Given the description of an element on the screen output the (x, y) to click on. 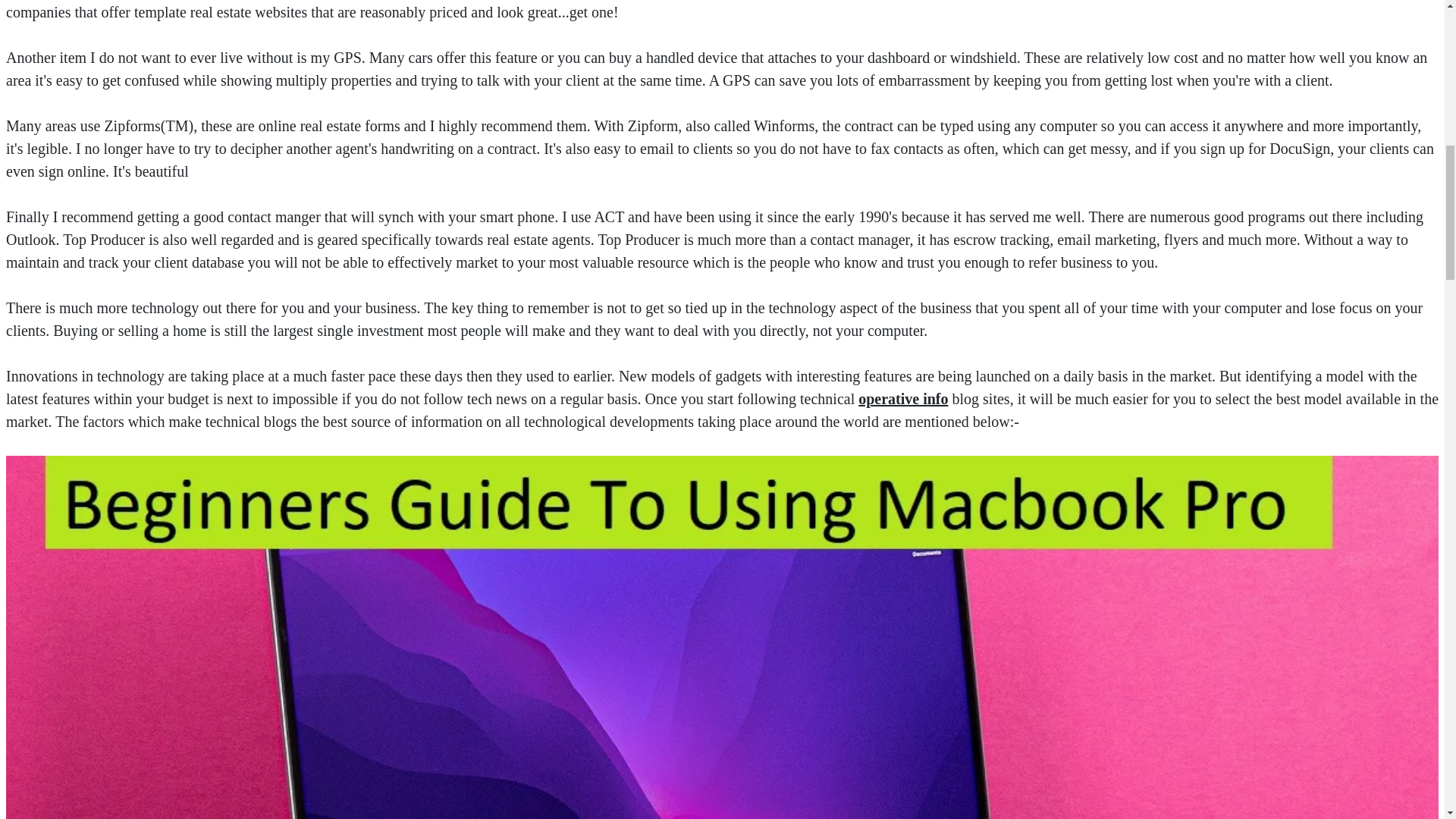
operative info (903, 398)
